Given the description of an element on the screen output the (x, y) to click on. 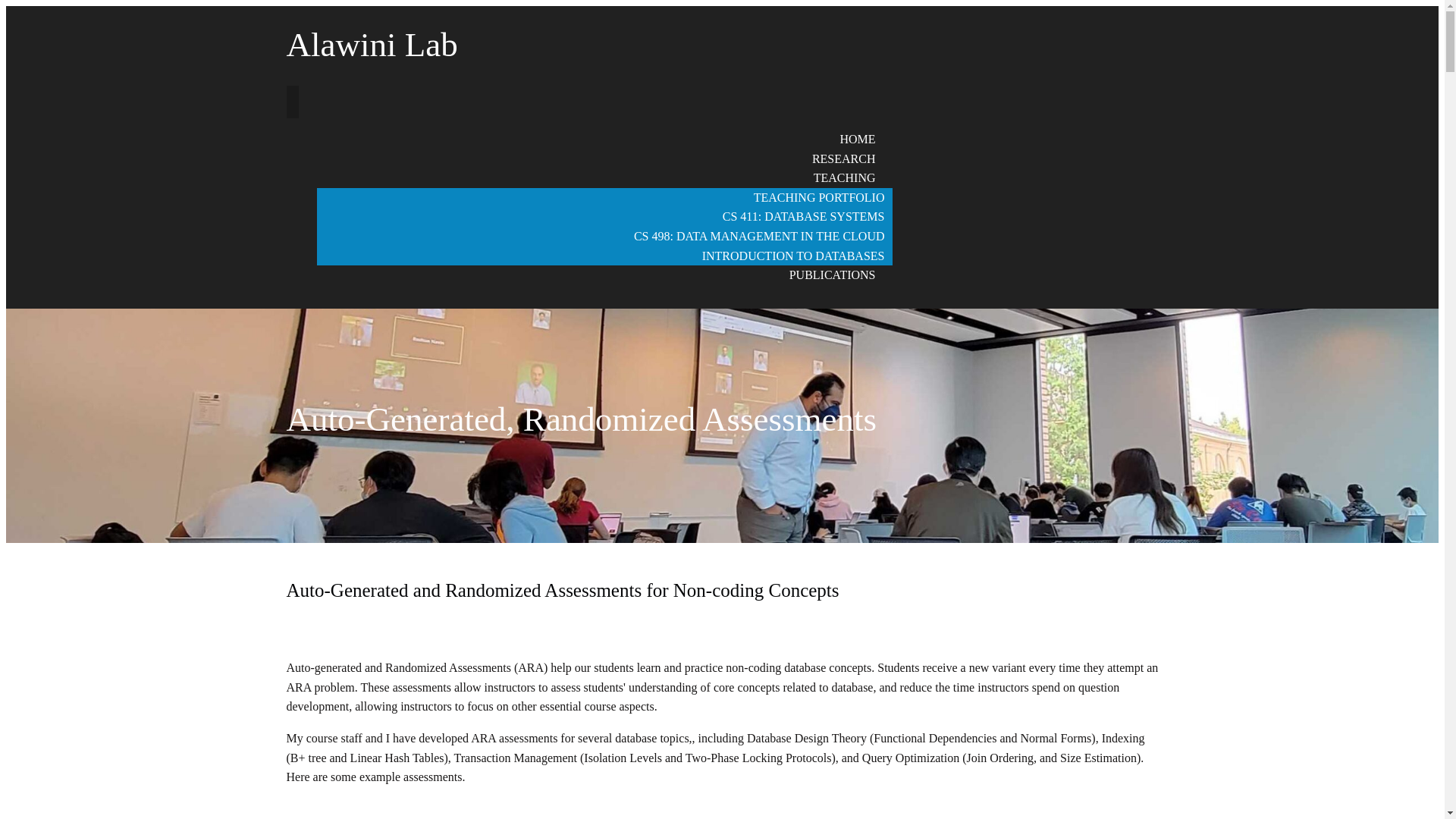
INTRODUCTION TO DATABASES (793, 255)
Alawini Lab (411, 44)
CS 411: DATABASE SYSTEMS (803, 216)
PUBLICATIONS (832, 275)
HOME (856, 139)
TEACHING (844, 177)
RESEARCH (843, 158)
CS 498: DATA MANAGEMENT IN THE CLOUD (759, 235)
TEACHING PORTFOLIO (818, 197)
